Given the description of an element on the screen output the (x, y) to click on. 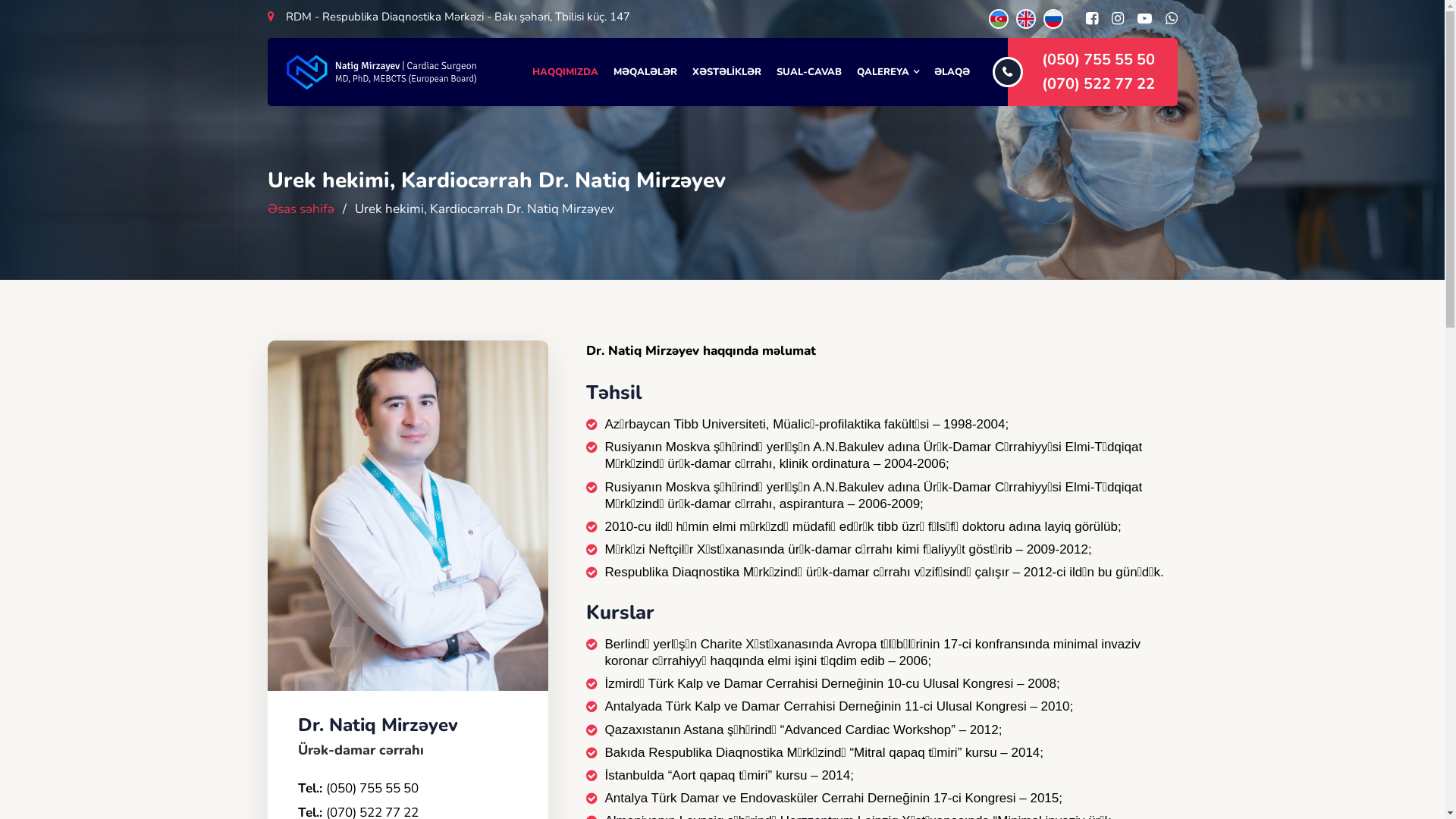
HAQQIMIZDA Element type: text (565, 71)
(050) 755 55 50 Element type: text (1097, 59)
QALEREYA Element type: text (887, 71)
SUAL-CAVAB Element type: text (808, 71)
(050) 755 55 50 Element type: text (372, 788)
(070) 522 77 22 Element type: text (1097, 84)
